Given the description of an element on the screen output the (x, y) to click on. 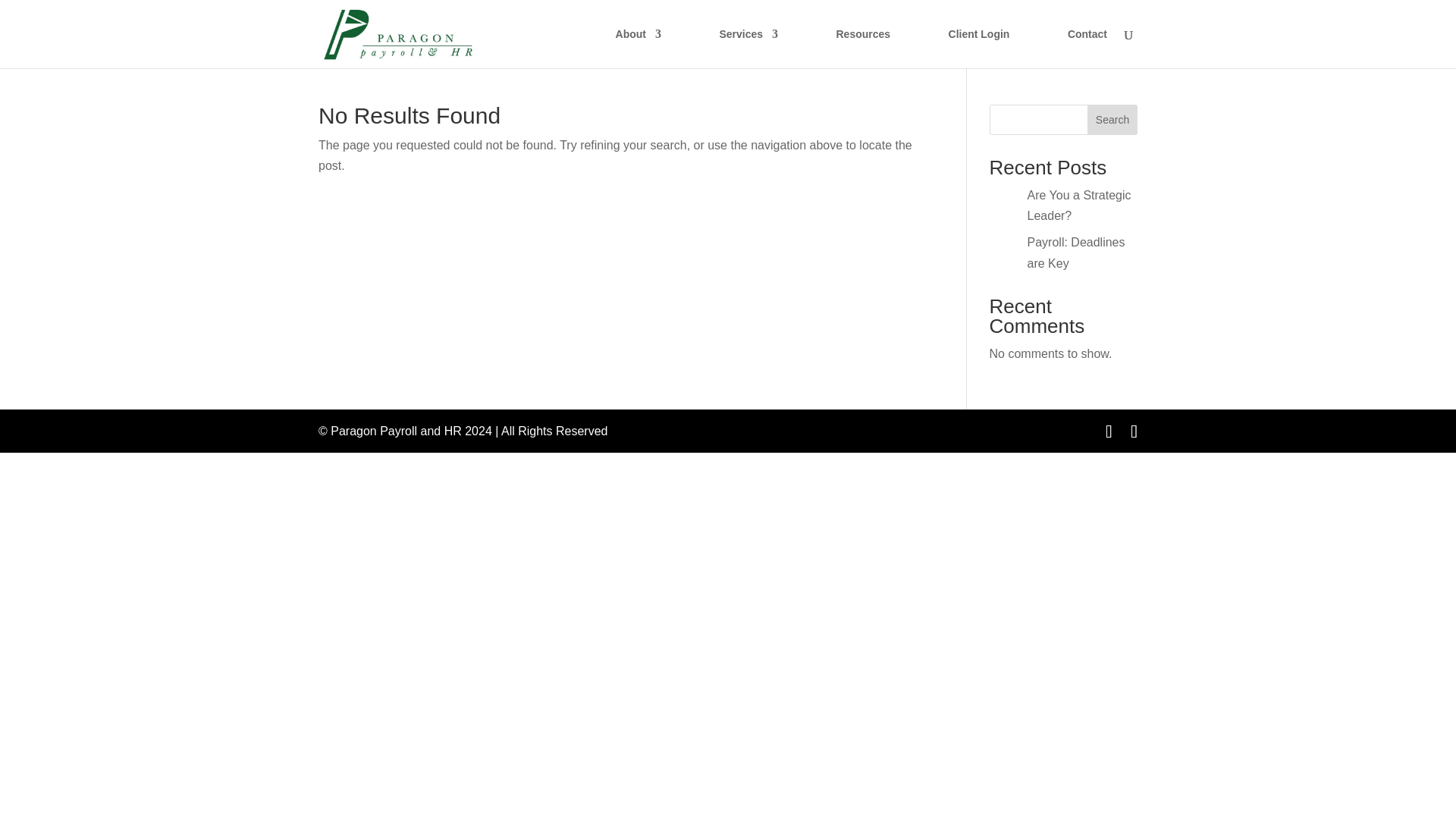
Are You a Strategic Leader? (1079, 205)
Search (1112, 119)
Client Login (979, 47)
Contact (1086, 47)
Resources (862, 47)
Payroll: Deadlines are Key (1076, 252)
Services (748, 47)
About (638, 47)
